Given the description of an element on the screen output the (x, y) to click on. 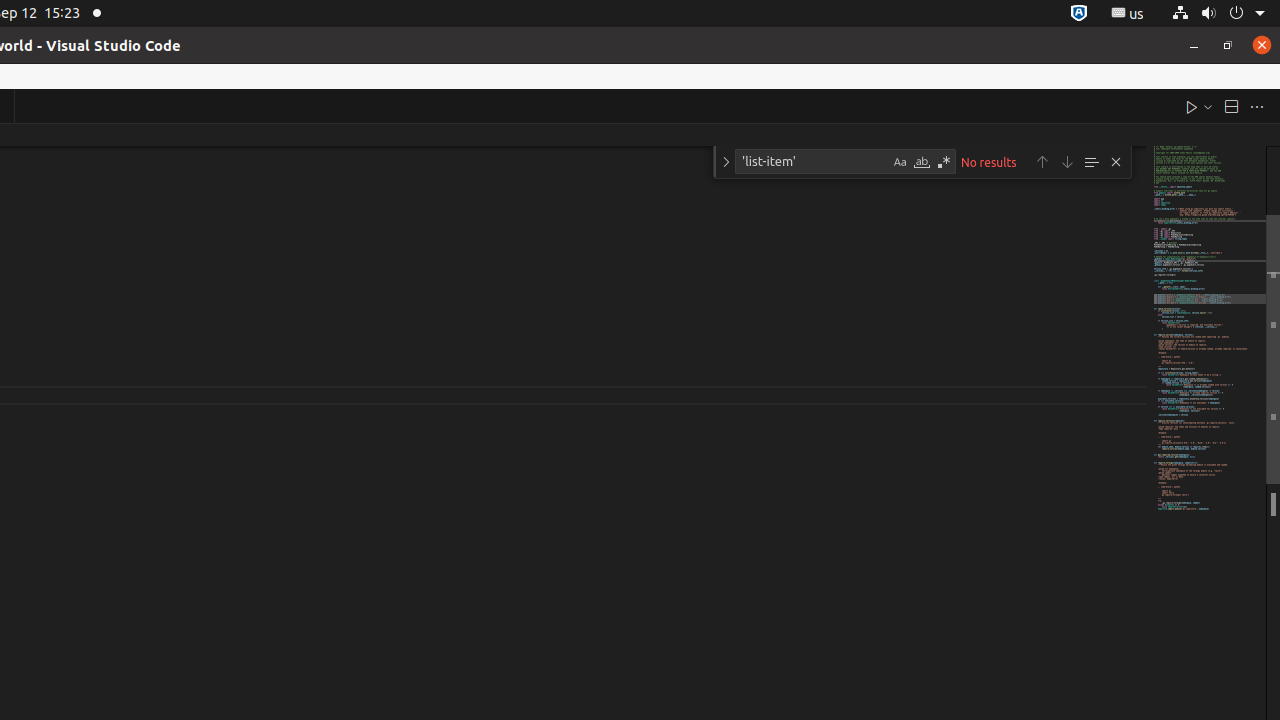
Run or Debug... Element type: push-button (1208, 106)
Use Regular Expression (Alt+R) Element type: check-box (944, 162)
Match Case (Alt+C) Element type: check-box (900, 162)
Run Python File Element type: push-button (1192, 106)
